Given the description of an element on the screen output the (x, y) to click on. 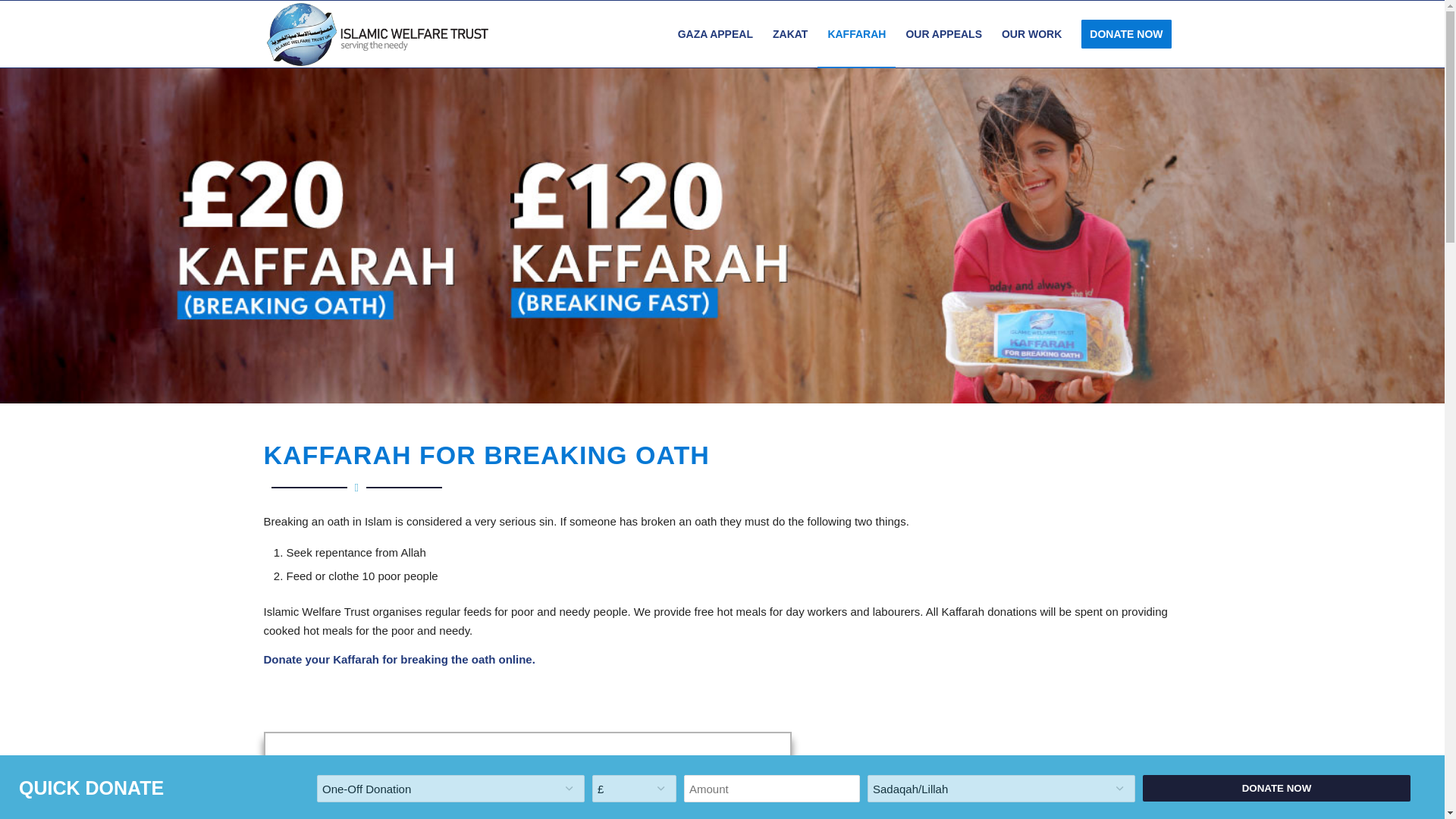
GAZA APPEAL (715, 33)
BROKEN 2 OATHS (361, 808)
KAFFARAH (855, 33)
BROKEN 1 OATH (294, 808)
Donate (282, 658)
DONATE NOW (1125, 33)
OUR WORK (1031, 33)
OUR APPEALS (943, 33)
20.00 (382, 774)
